Given the description of an element on the screen output the (x, y) to click on. 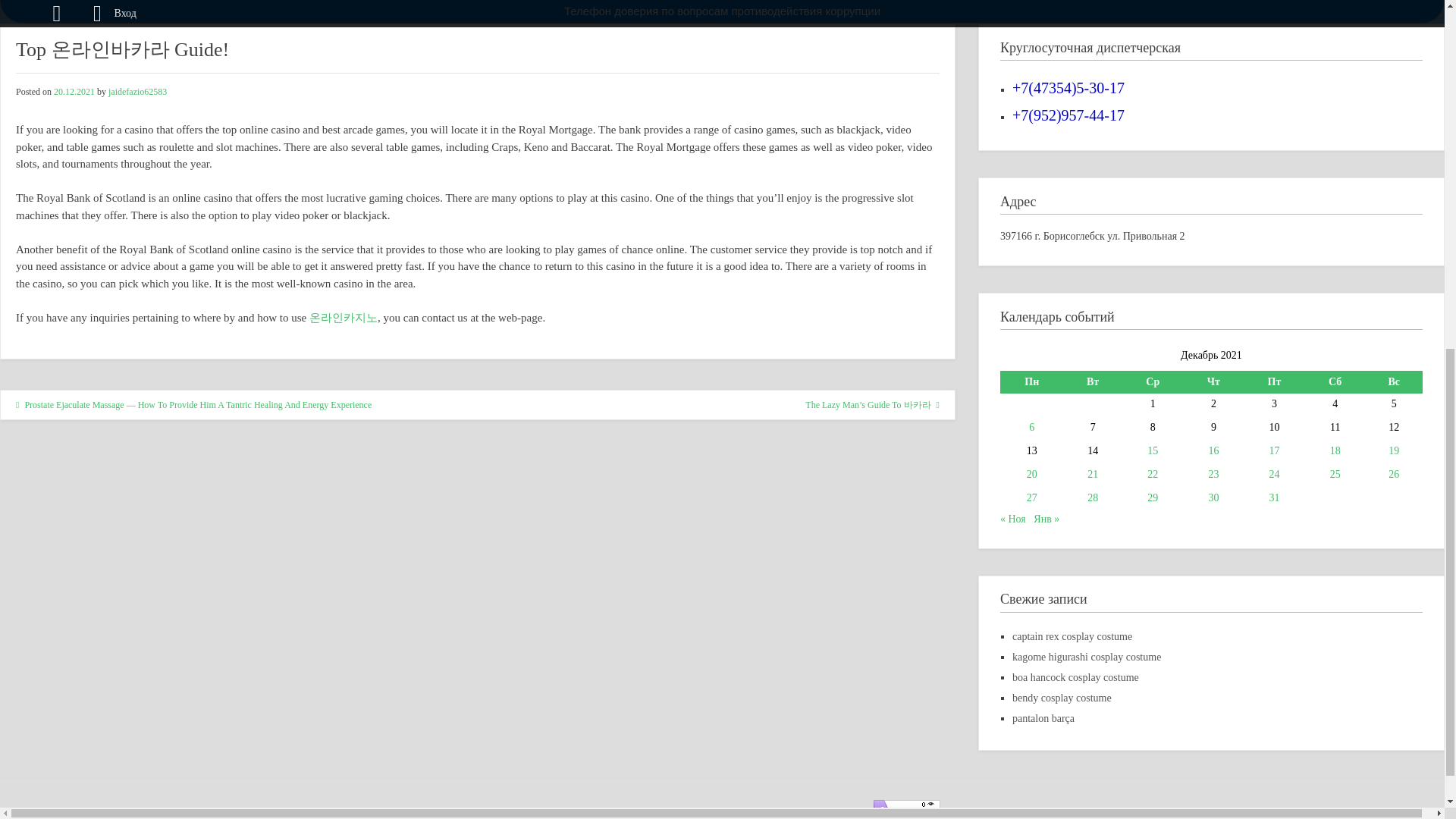
20.12.2021 (73, 91)
17 (1273, 450)
jaidefazio62583 (137, 91)
19 (1394, 450)
20 (1031, 473)
18 (1335, 450)
15 (1152, 450)
16 (1213, 450)
